Given the description of an element on the screen output the (x, y) to click on. 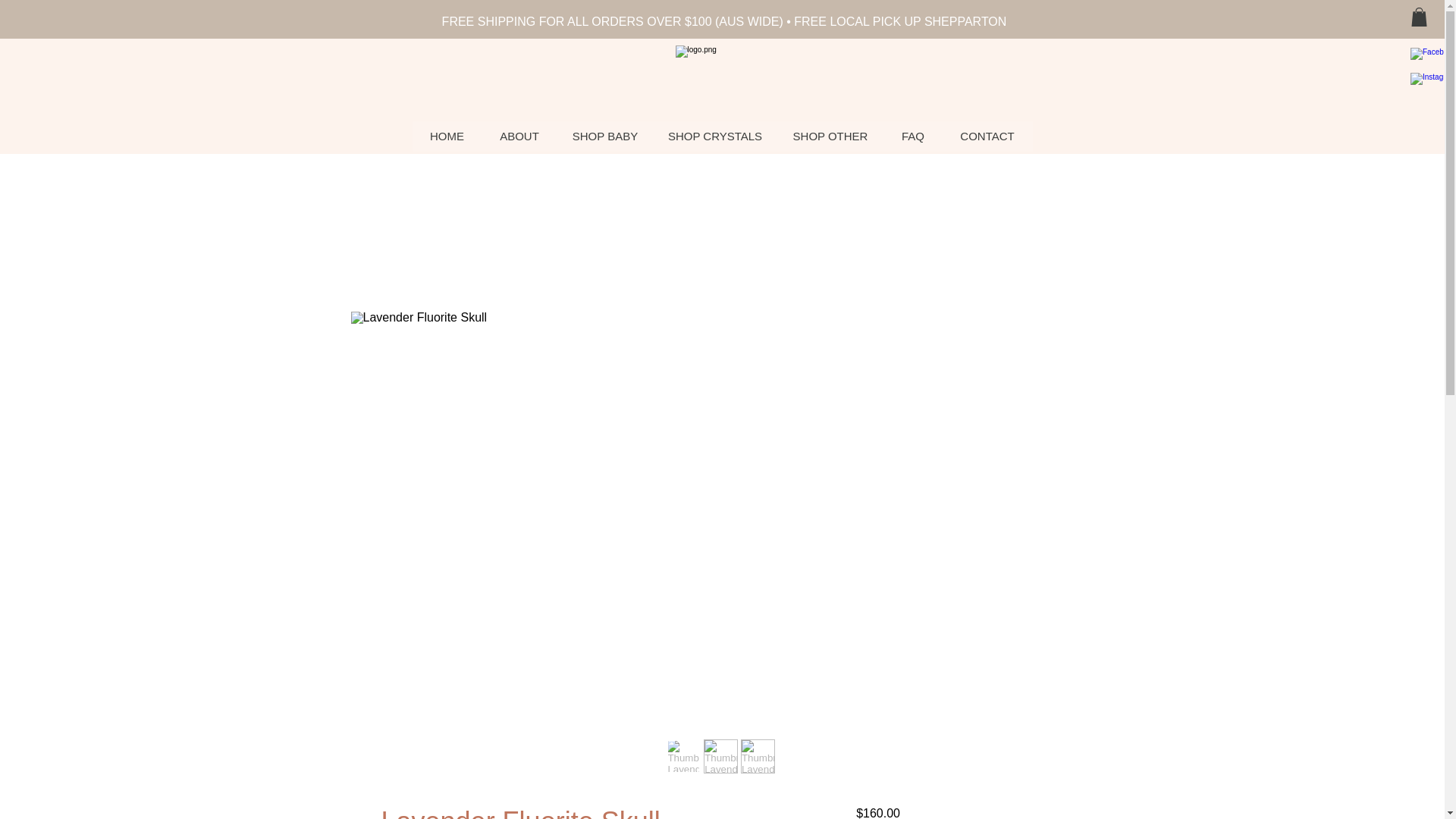
SHOP BABY (604, 136)
SHOP CRYSTALS (714, 136)
CONTACT (987, 136)
HOME (446, 136)
ABOUT (518, 136)
FAQ (912, 136)
SHOP OTHER (829, 136)
